Given the description of an element on the screen output the (x, y) to click on. 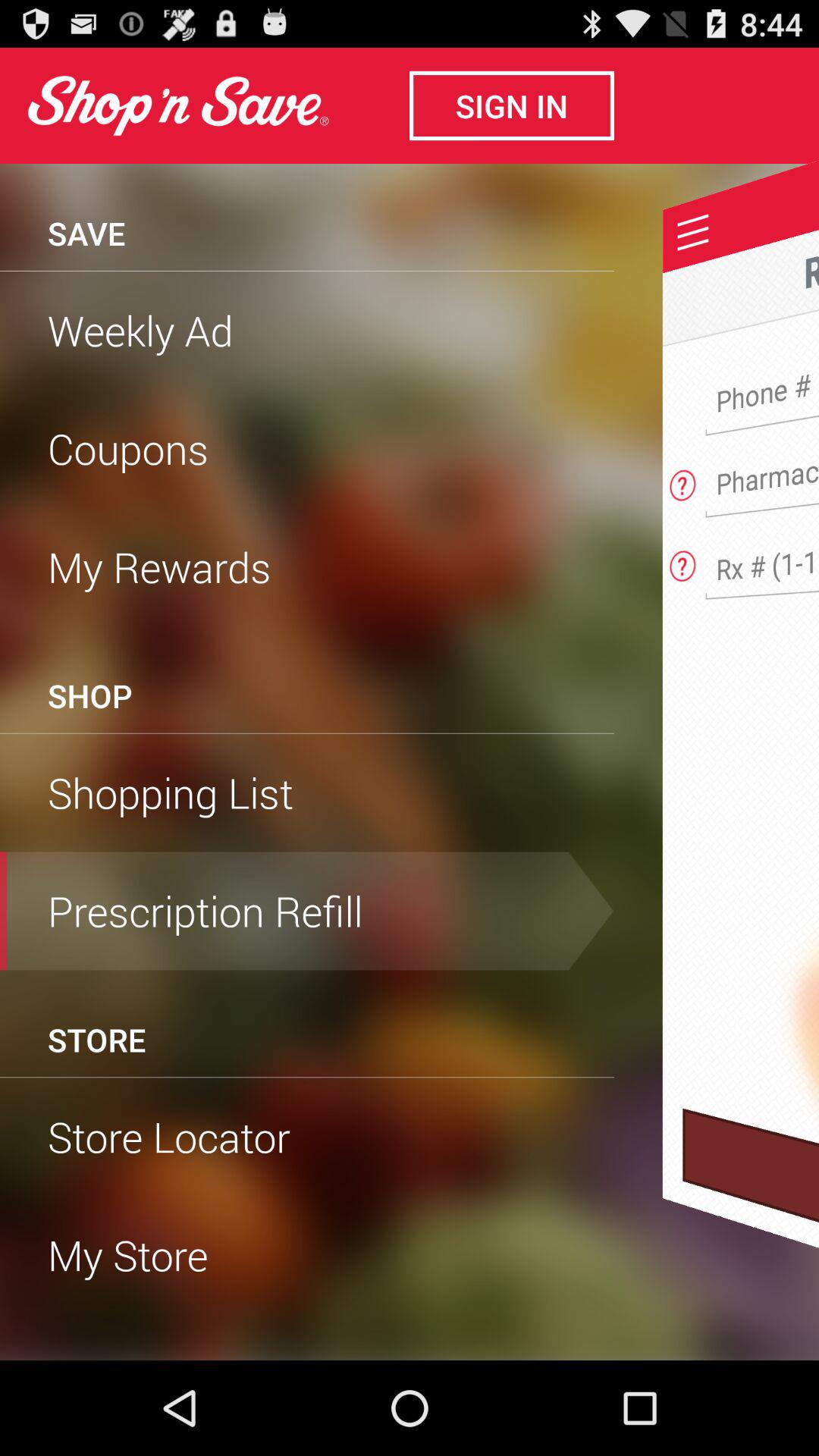
enter phone number (767, 352)
